Given the description of an element on the screen output the (x, y) to click on. 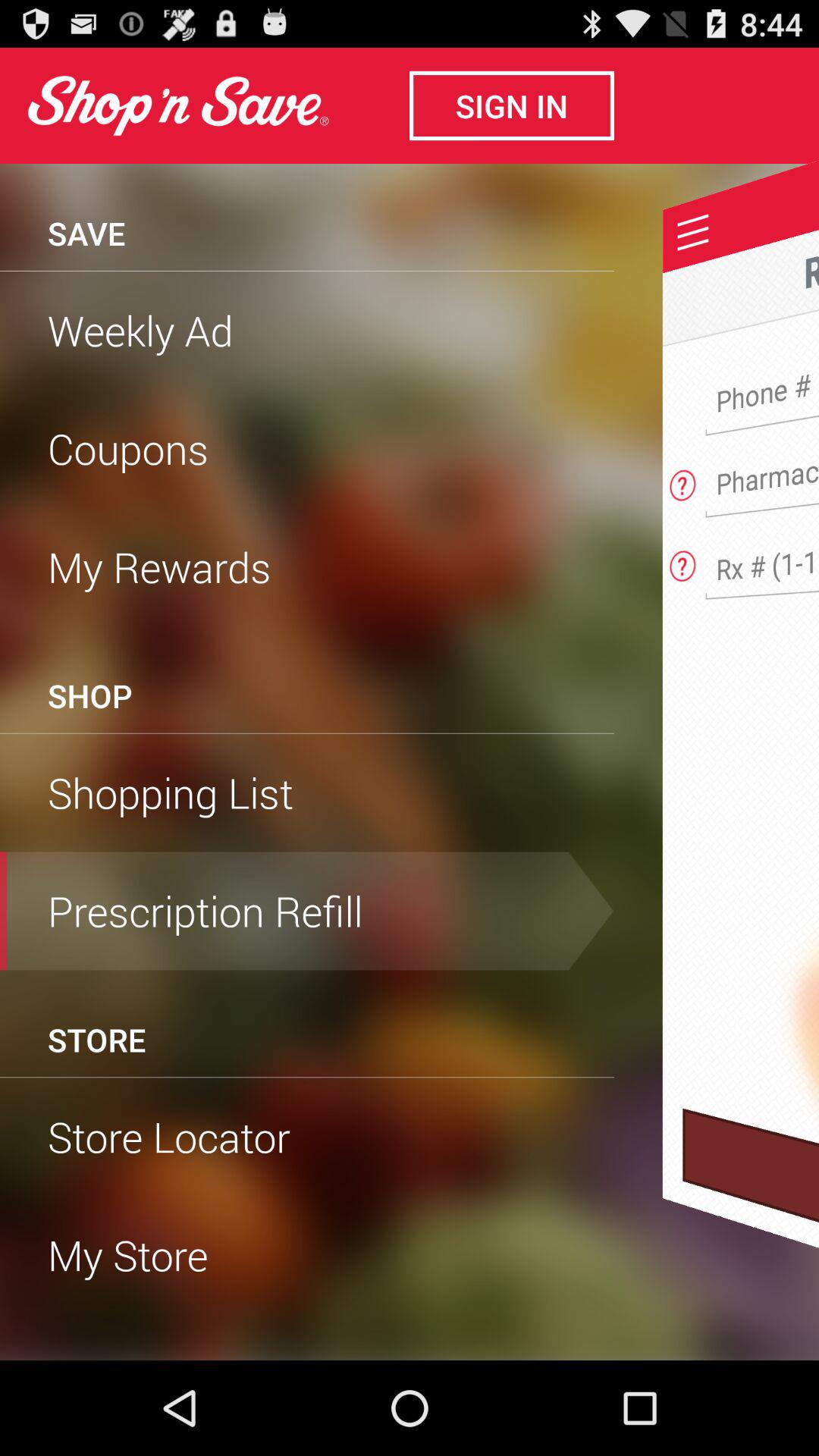
enter phone number (767, 352)
